Given the description of an element on the screen output the (x, y) to click on. 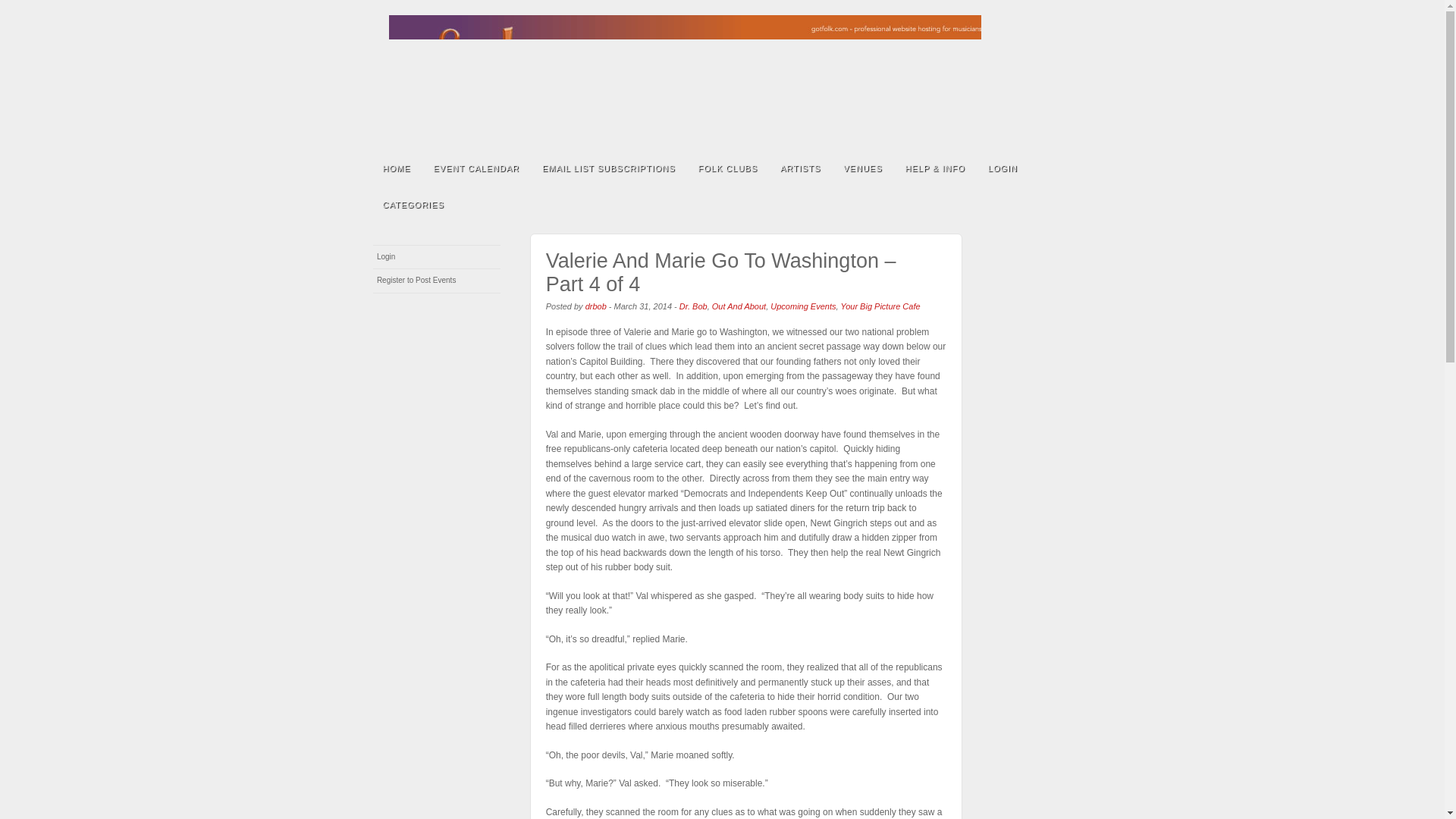
View all posts by drbob (596, 306)
drbob (596, 306)
Login (436, 256)
CATEGORIES (413, 203)
Out And About (738, 306)
Dr. Bob (693, 306)
Upcoming Events (802, 306)
Register to Post Events (436, 280)
VENUES (862, 167)
FOLK CLUBS (727, 167)
ARTISTS (799, 167)
Rss (1041, 76)
EVENT CALENDAR (475, 167)
Rss (1041, 76)
HOME (396, 167)
